Given the description of an element on the screen output the (x, y) to click on. 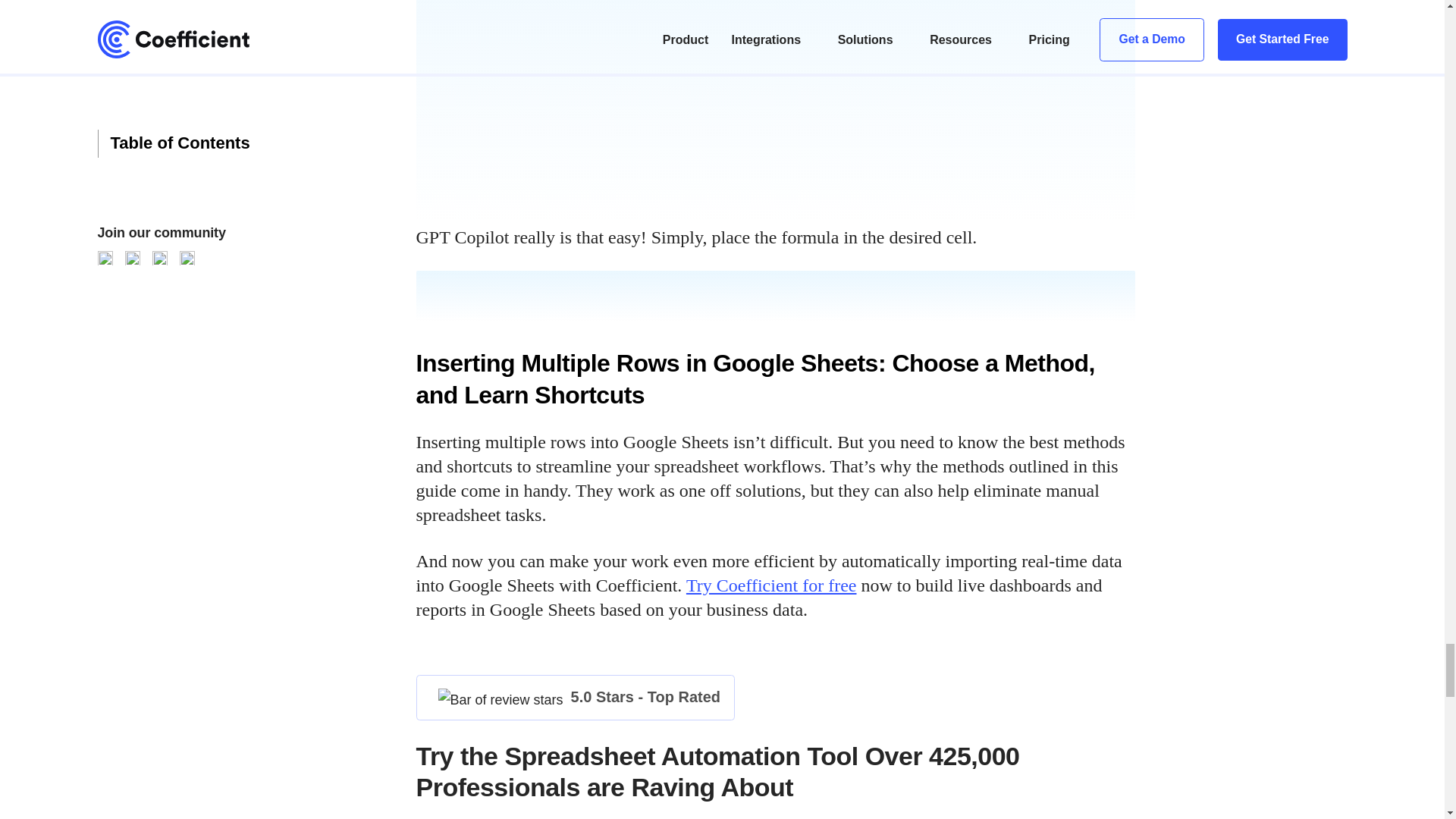
5.0 Stars - Top Rated (574, 696)
Google Marketplace (574, 696)
Try Coefficient for free (771, 585)
